Given the description of an element on the screen output the (x, y) to click on. 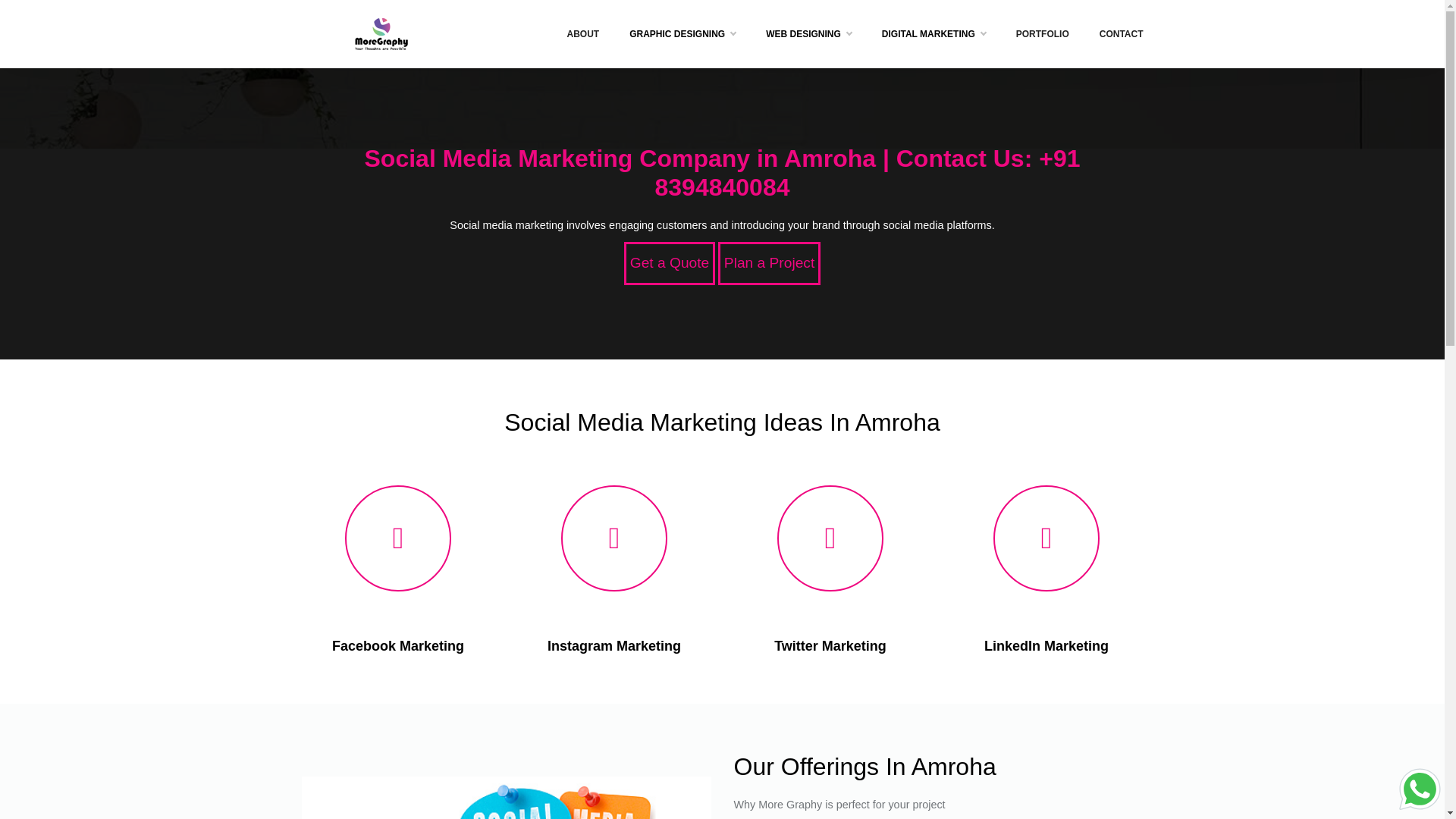
WEB DESIGNING (808, 33)
ABOUT (582, 33)
PORTFOLIO (1042, 33)
Submit (721, 422)
Get a Quote (669, 263)
GRAPHIC DESIGNING (682, 33)
DIGITAL MARKETING (933, 33)
Plan a Project (769, 263)
